Given the description of an element on the screen output the (x, y) to click on. 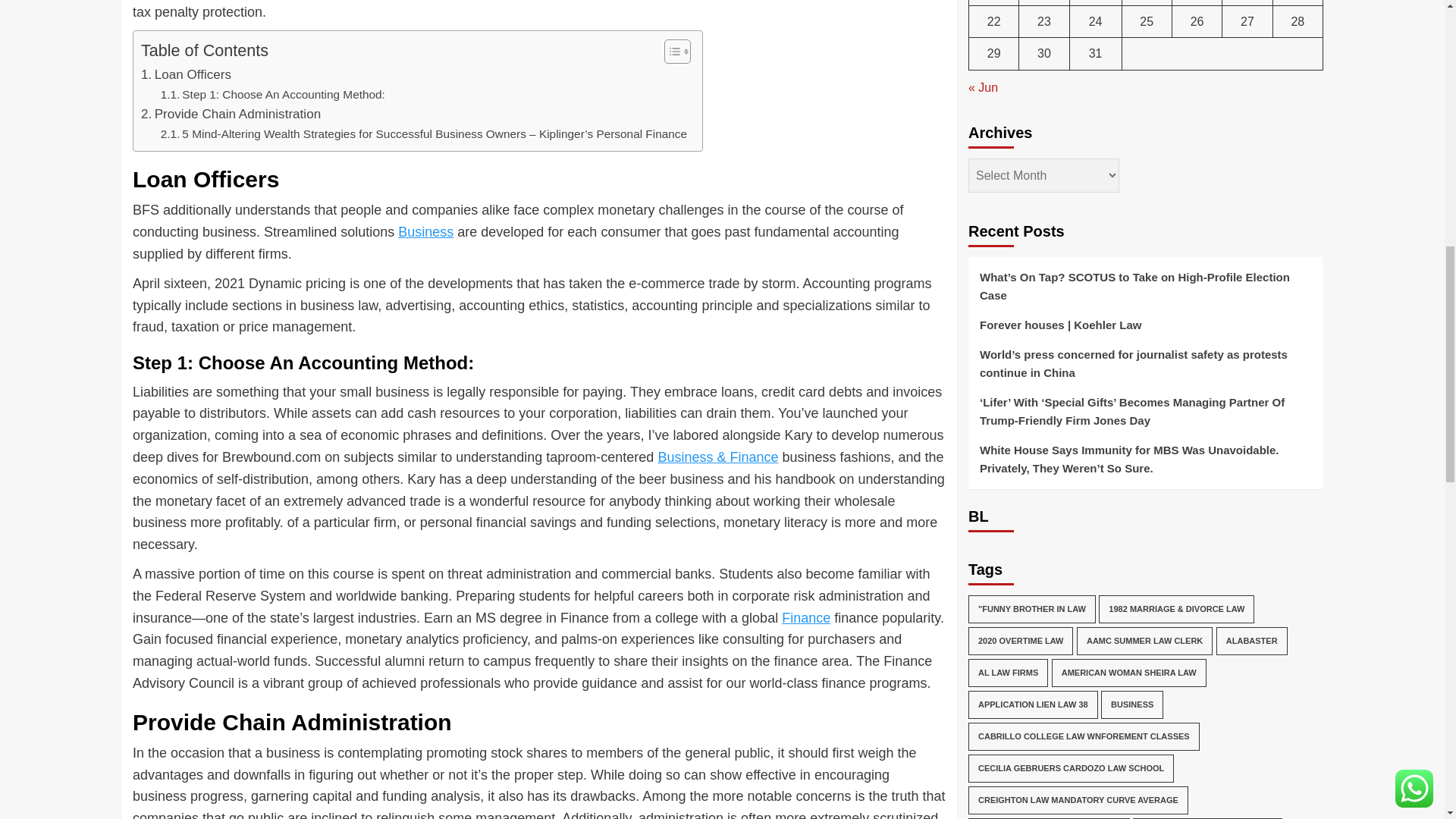
Business (424, 231)
Provide Chain Administration (230, 114)
Loan Officers (186, 74)
Step 1: Choose An Accounting Method: (272, 94)
Step 1: Choose An Accounting Method: (272, 94)
Provide Chain Administration (230, 114)
Loan Officers (186, 74)
Finance (805, 617)
